Given the description of an element on the screen output the (x, y) to click on. 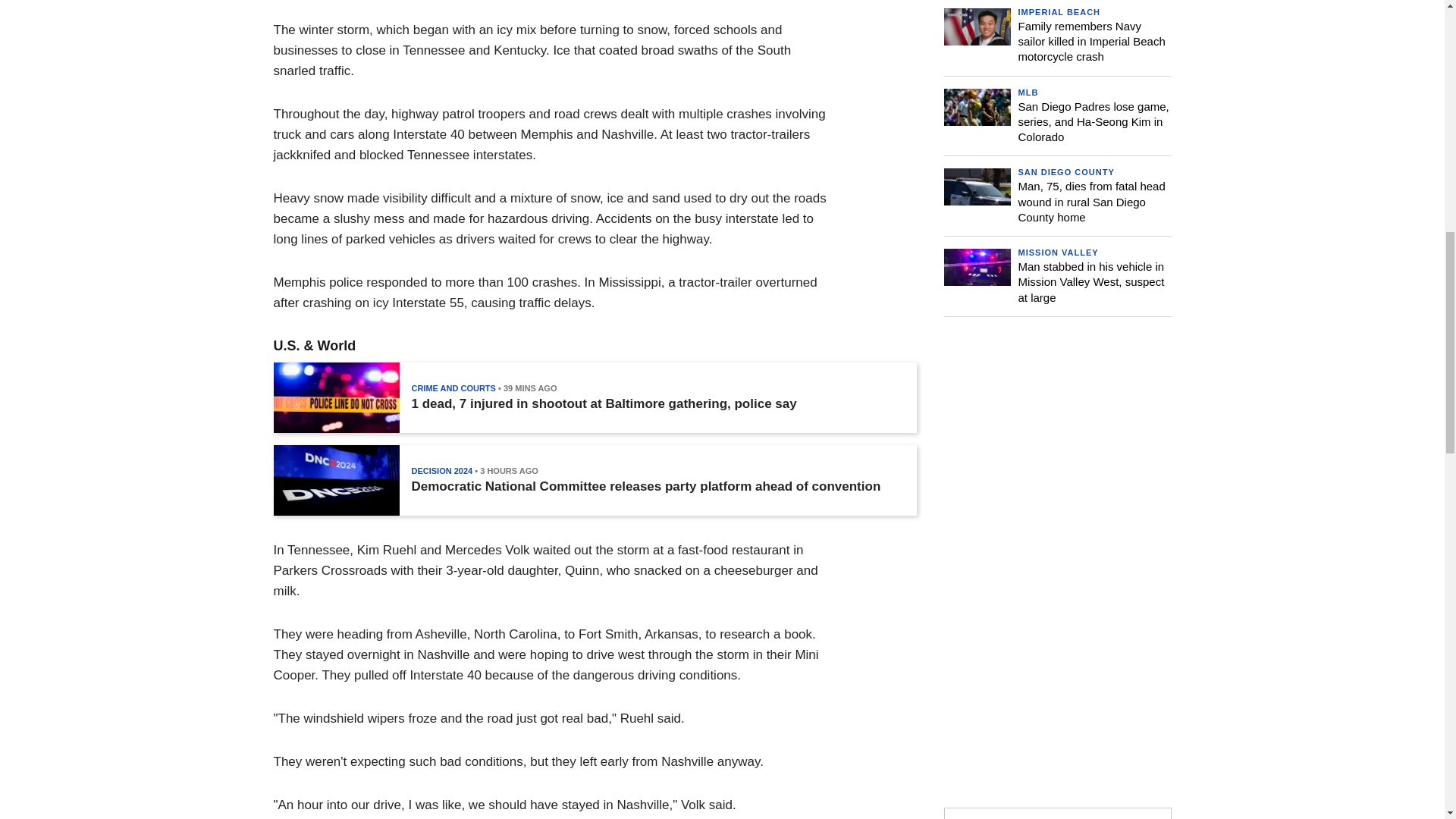
DECISION 2024 (440, 470)
CRIME AND COURTS (452, 388)
